Given the description of an element on the screen output the (x, y) to click on. 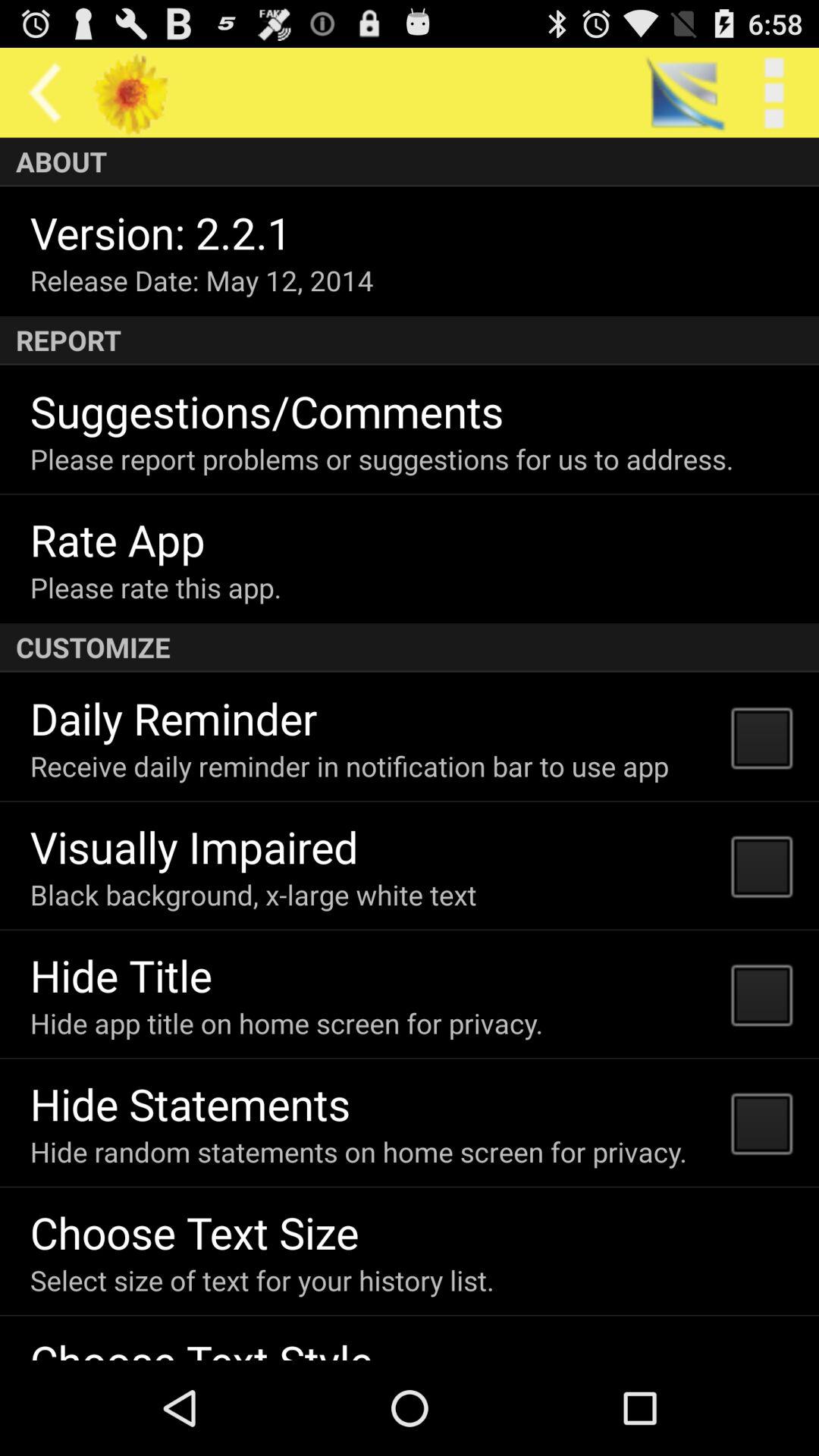
choose the icon above rate app (381, 458)
